Given the description of an element on the screen output the (x, y) to click on. 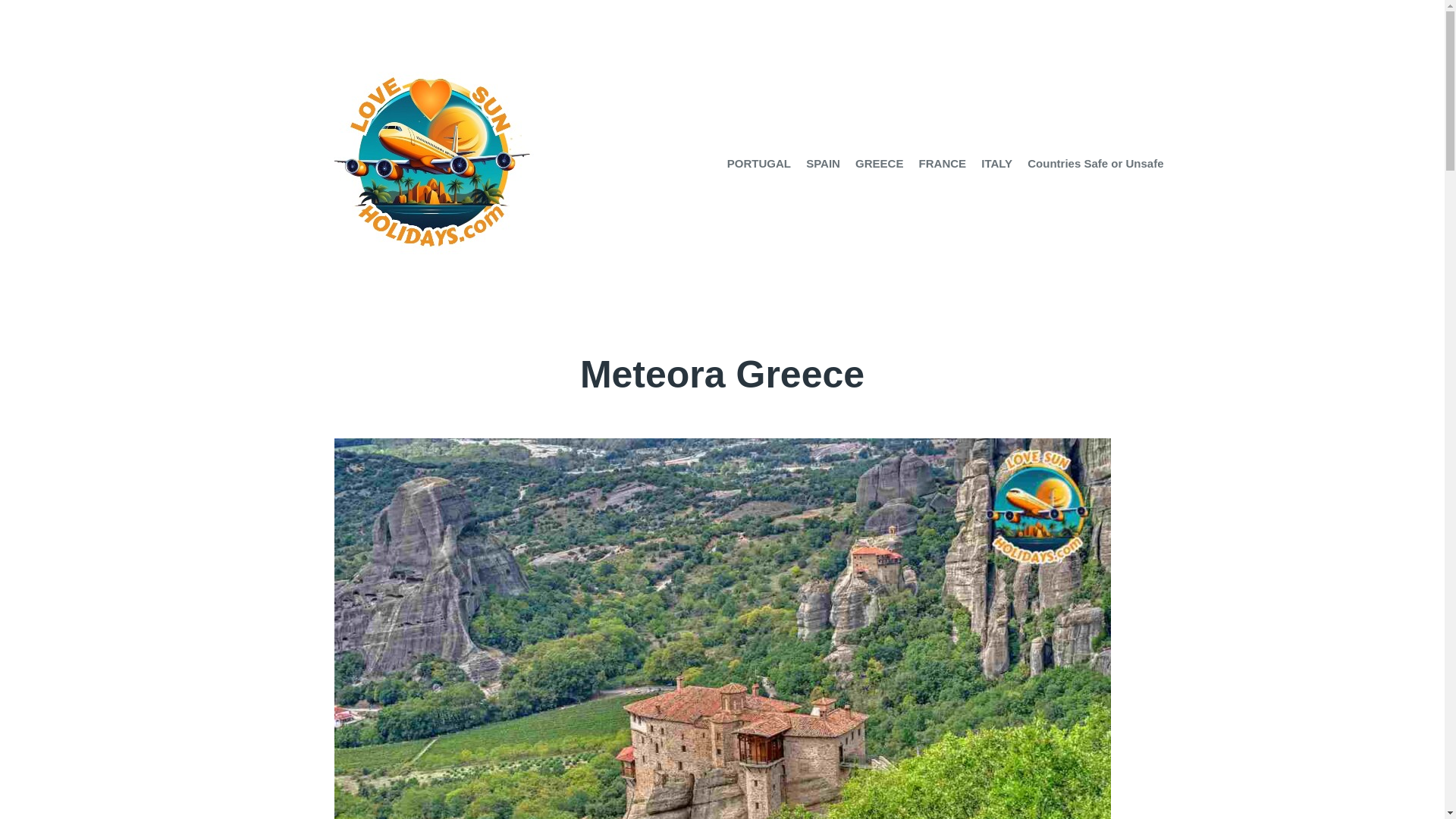
SPAIN (823, 163)
PORTUGAL (758, 163)
FRANCE (942, 163)
Countries Safe or Unsafe (1095, 163)
ITALY (996, 163)
GREECE (879, 163)
